Given the description of an element on the screen output the (x, y) to click on. 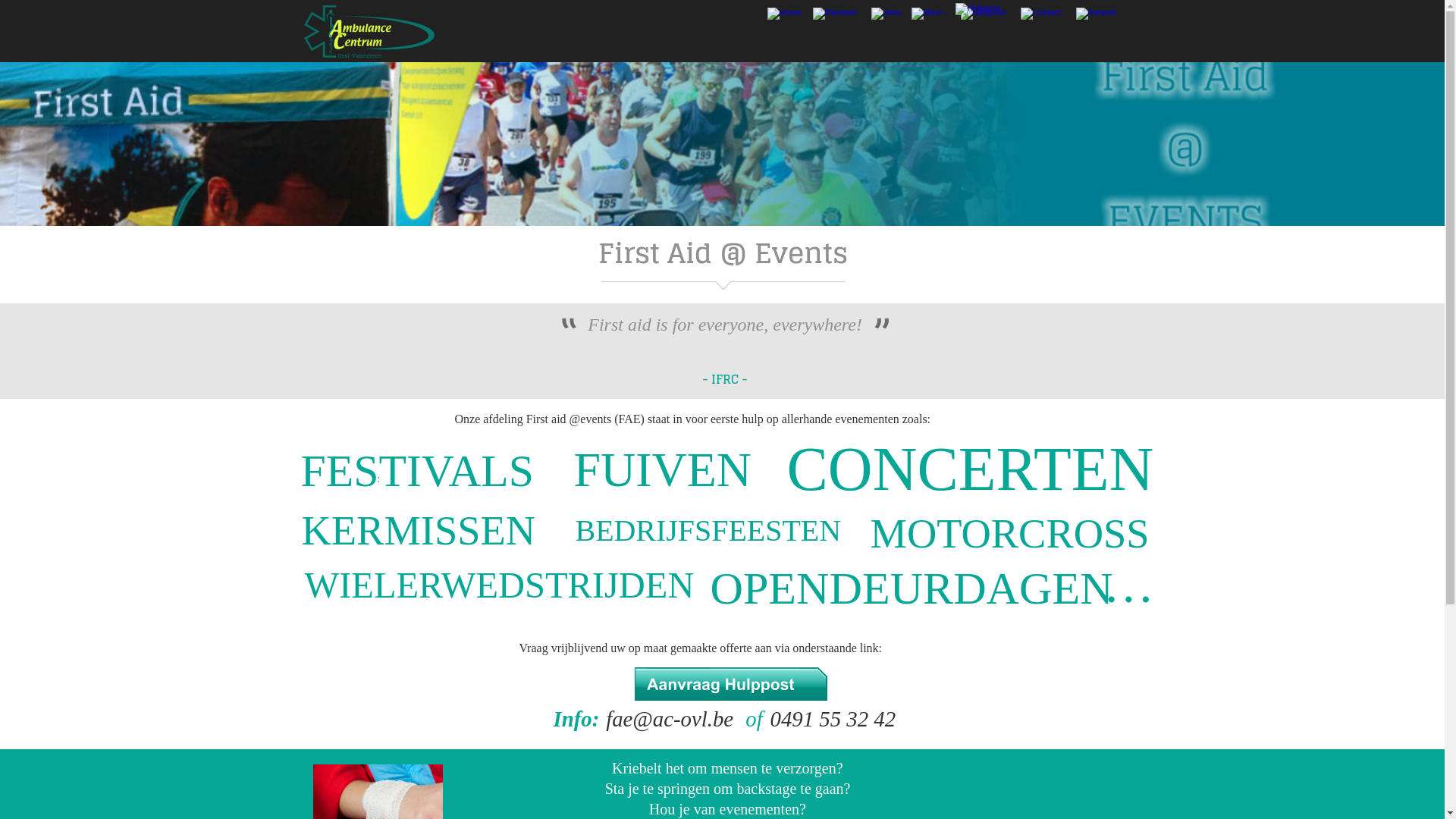
 fae@ac-ovl.be Element type: text (670, 718)
Info: Element type: text (576, 718)
